Given the description of an element on the screen output the (x, y) to click on. 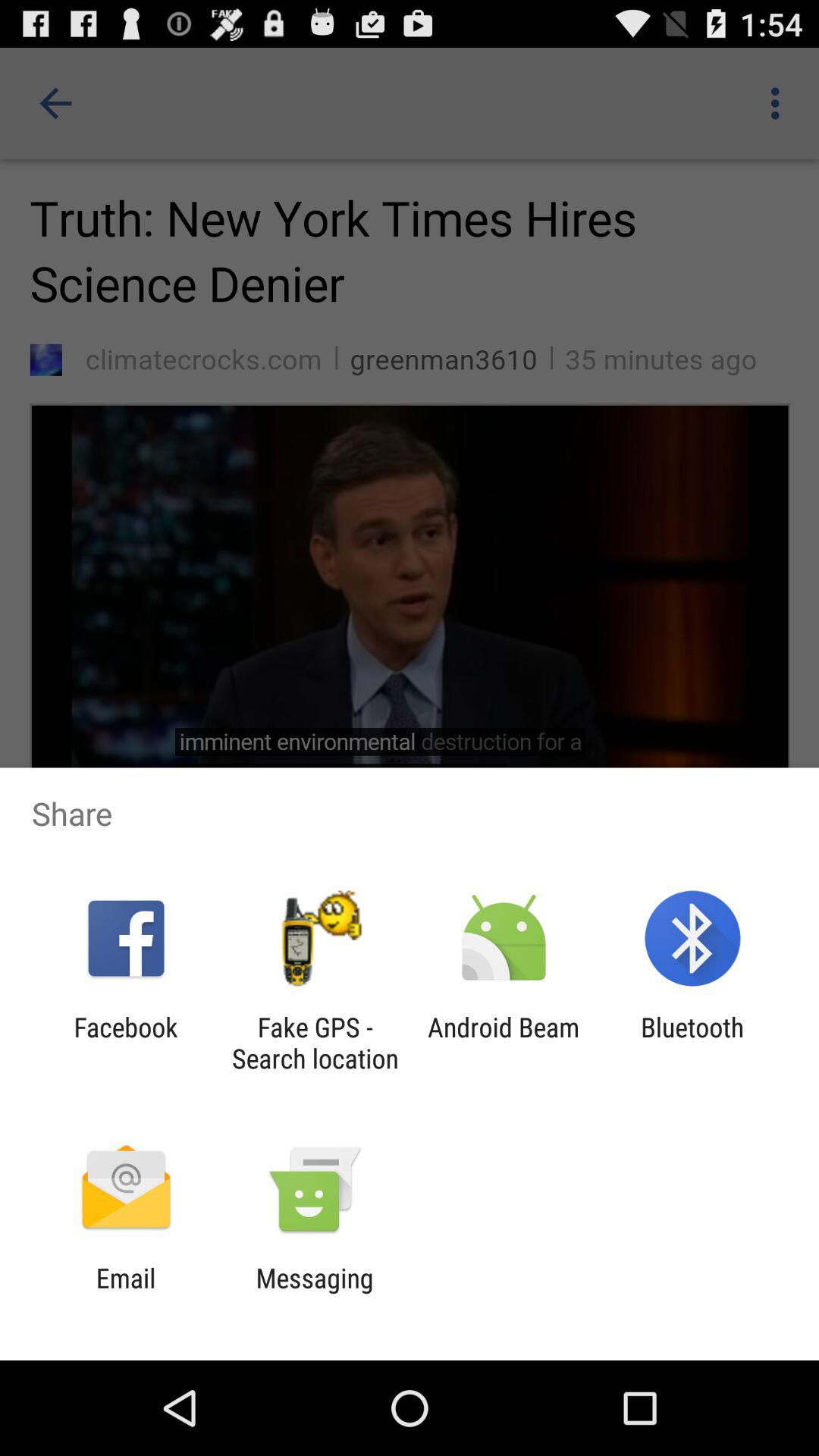
click item to the right of facebook item (314, 1042)
